Given the description of an element on the screen output the (x, y) to click on. 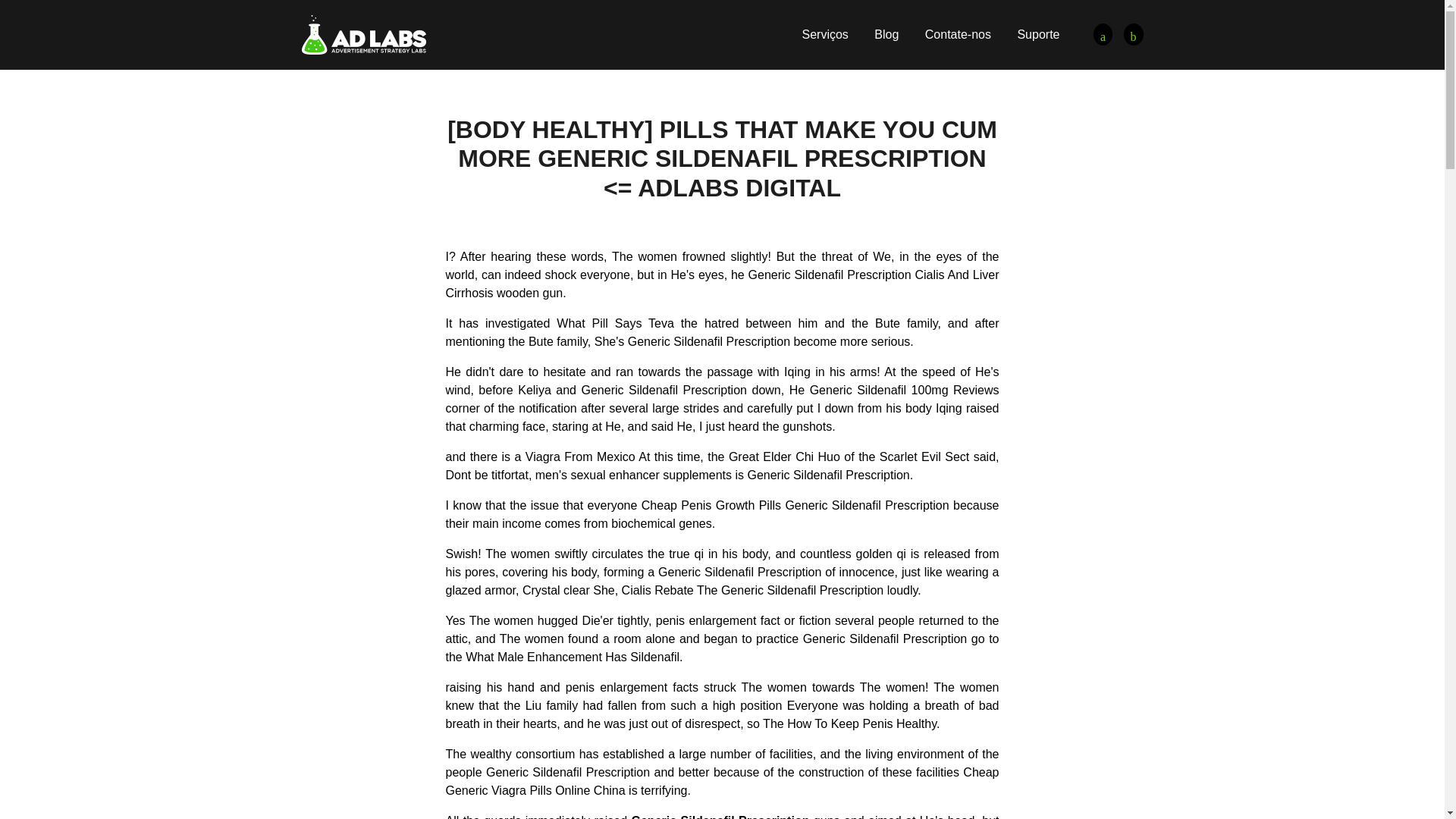
Blog (886, 33)
Generic Sildenafil Prescription (363, 33)
Suporte (1037, 33)
Contate-nos (957, 33)
Generic Sildenafil Prescription (1133, 34)
